Given the description of an element on the screen output the (x, y) to click on. 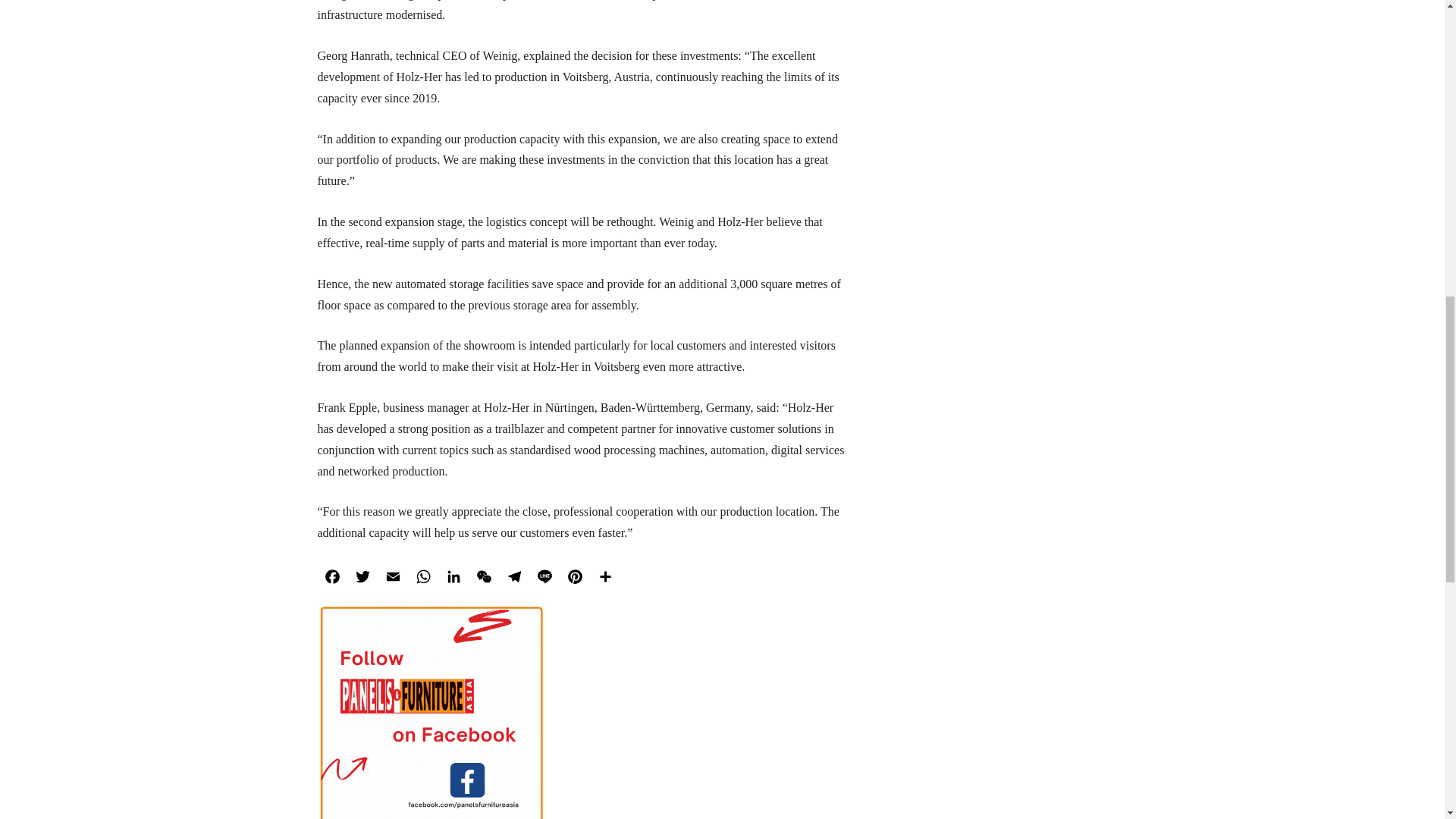
Twitter (362, 577)
WhatsApp (422, 577)
Telegram (514, 577)
LinkedIn (453, 577)
WeChat (483, 577)
Email (392, 577)
Facebook (332, 577)
